Given the description of an element on the screen output the (x, y) to click on. 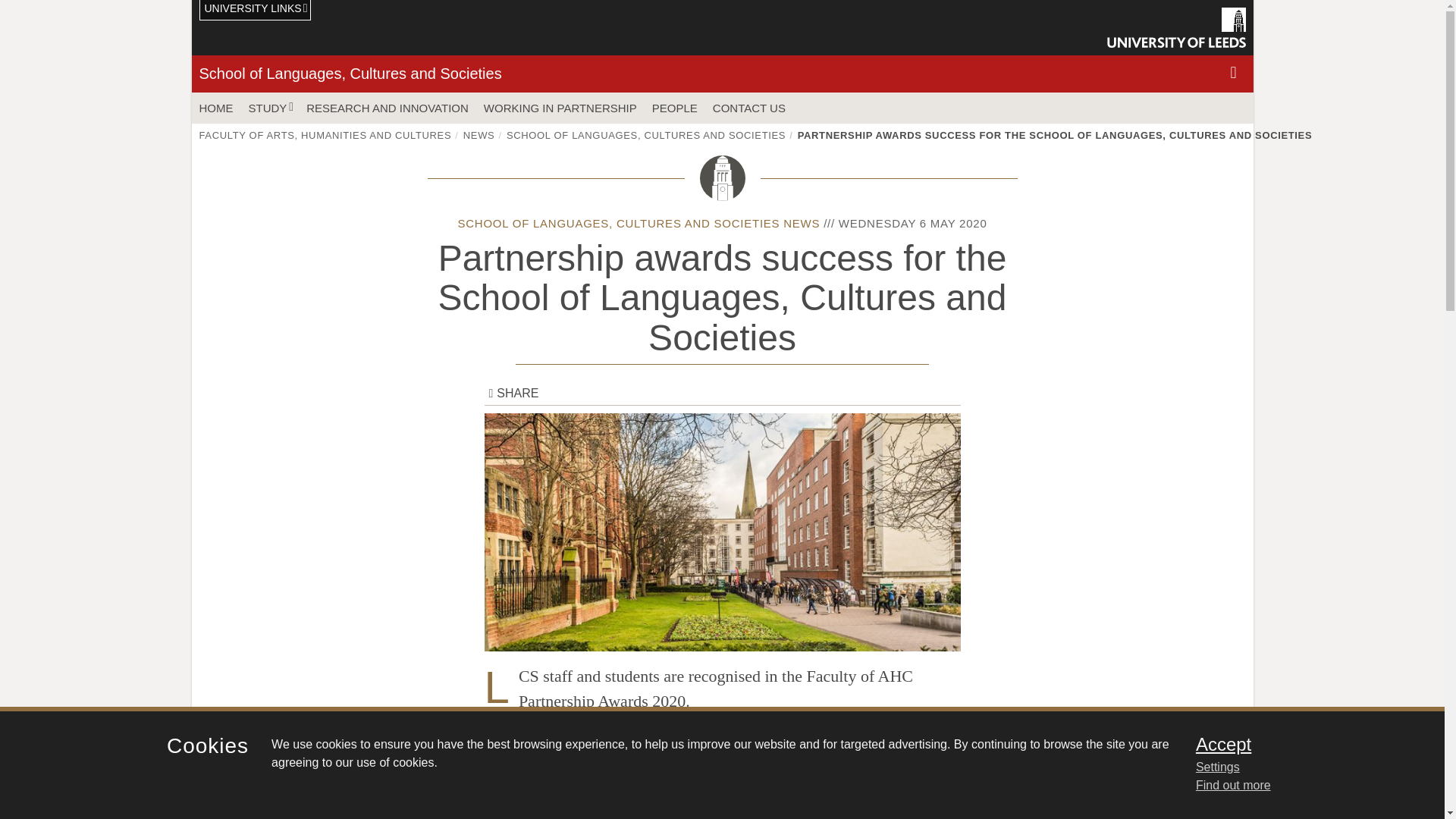
UNIVERSITY LINKS (254, 10)
University of Leeds homepage (1176, 27)
Accept (1300, 744)
Find out more (1233, 784)
Settings (1300, 767)
